Given the description of an element on the screen output the (x, y) to click on. 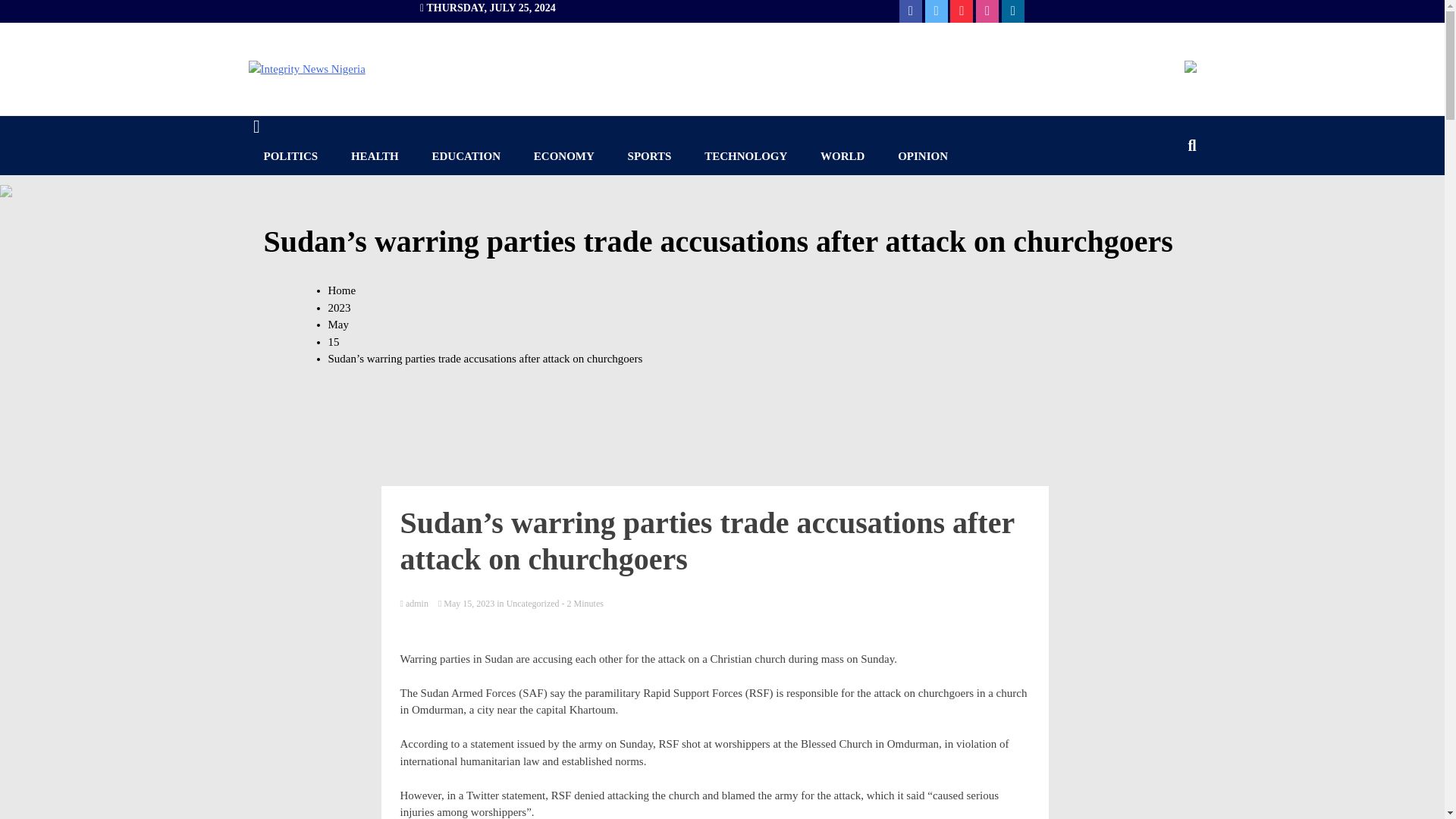
SPORTS (649, 156)
OPINION (922, 156)
WORLD (842, 156)
ECONOMY (564, 156)
Estimated Reading Time of Article (583, 603)
EDUCATION (466, 156)
POLITICS (290, 156)
TECHNOLOGY (745, 156)
HEALTH (374, 156)
